Given the description of an element on the screen output the (x, y) to click on. 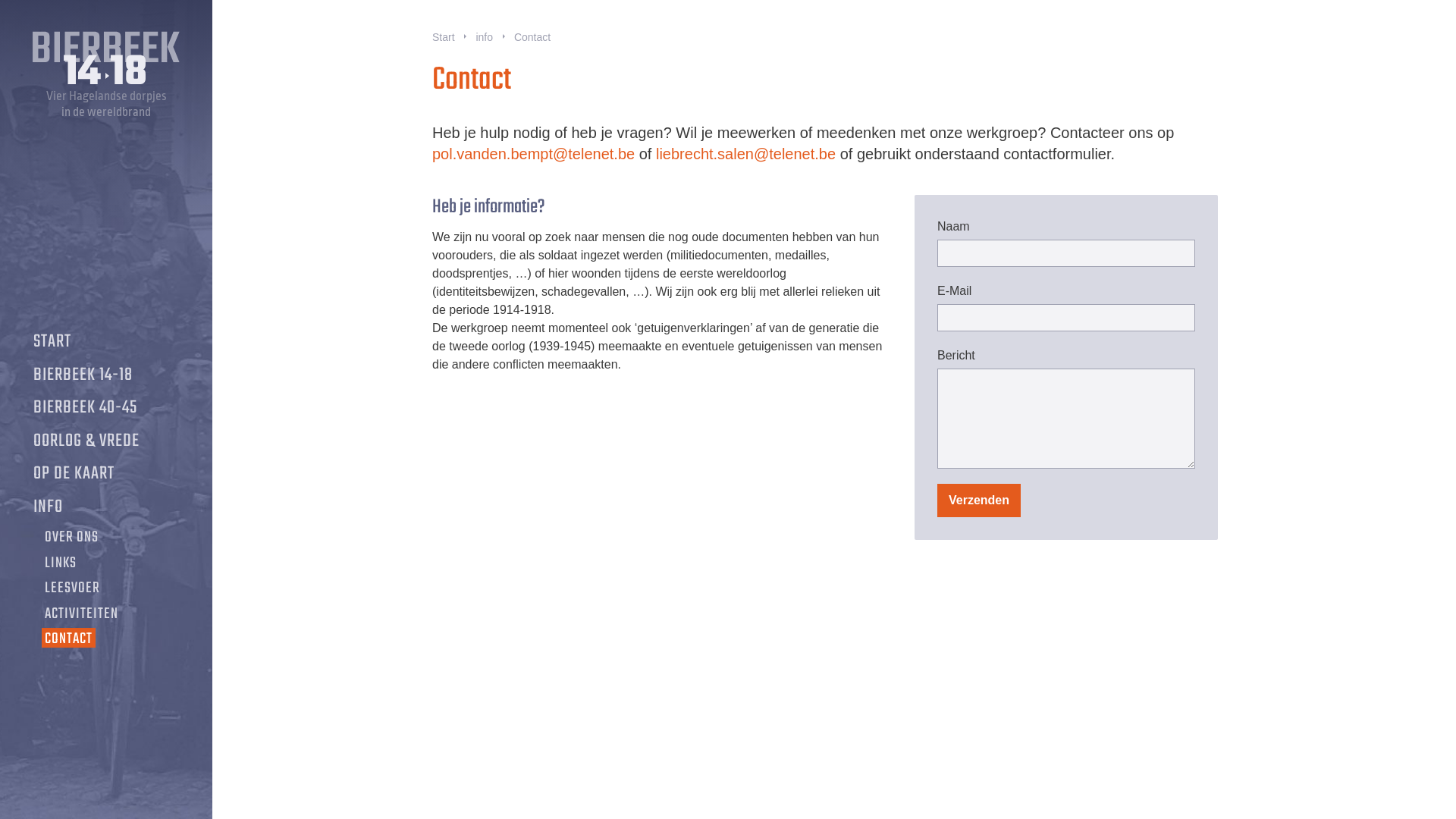
LEESVOER Element type: text (72, 588)
START Element type: text (52, 341)
Start Element type: text (443, 38)
BIERBEEK 40-45 Element type: text (85, 407)
OORLOG & VREDE Element type: text (86, 441)
BIERBEEK 14-18 Element type: text (82, 375)
OVER ONS Element type: text (71, 537)
ACTIVITEITEN Element type: text (81, 613)
CONTACT Element type: text (68, 638)
liebrecht.salen@telenet.be Element type: text (745, 153)
OP DE KAART Element type: text (73, 473)
Verzenden Element type: text (978, 500)
LINKS Element type: text (60, 563)
pol.vanden.bempt@telenet.be Element type: text (533, 153)
